Given the description of an element on the screen output the (x, y) to click on. 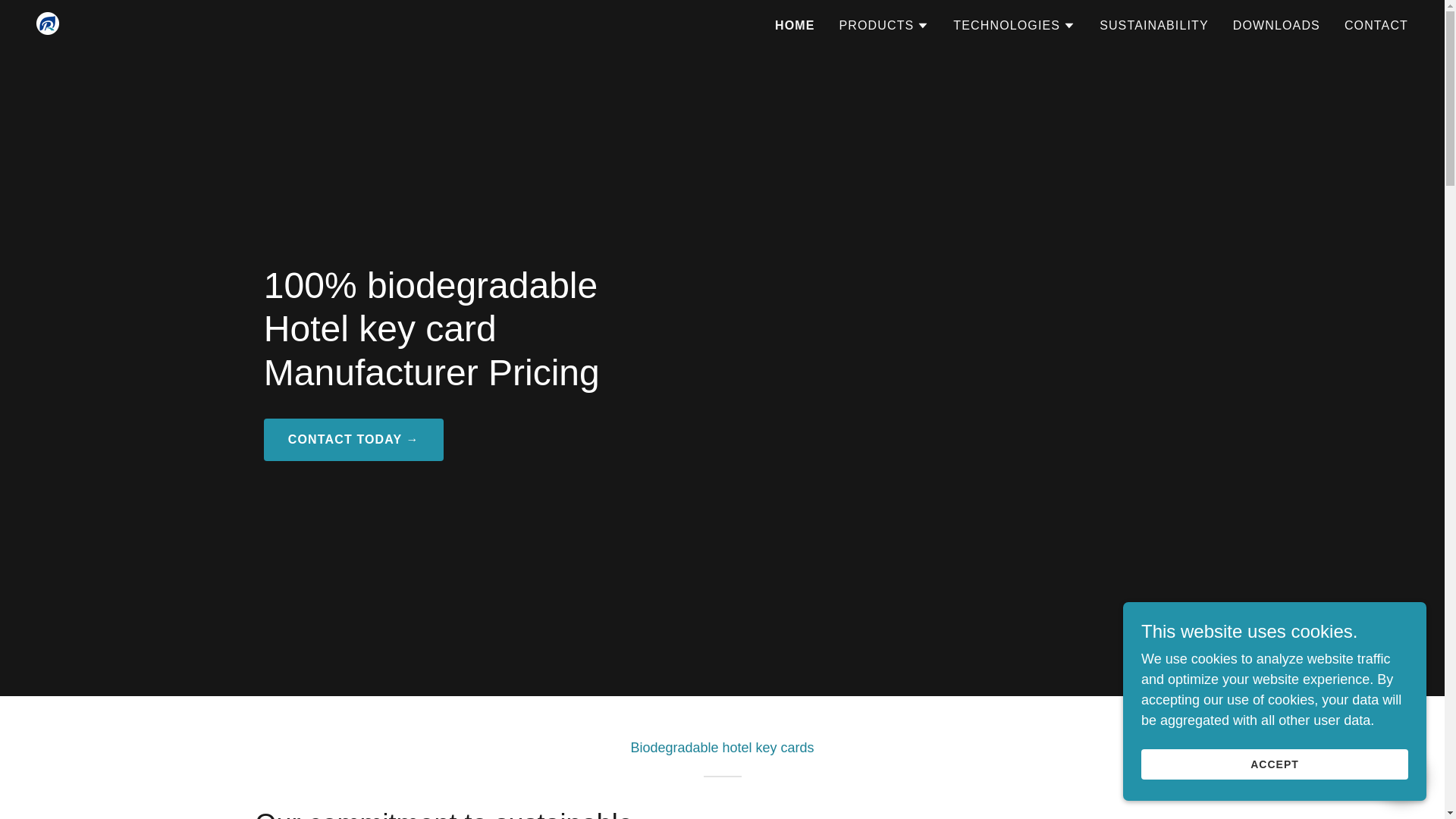
CONTACT (1375, 25)
TECHNOLOGIES (1014, 25)
PRODUCTS (883, 25)
HOME (794, 25)
SUSTAINABILITY (1153, 25)
DOWNLOADS (1276, 25)
